Given the description of an element on the screen output the (x, y) to click on. 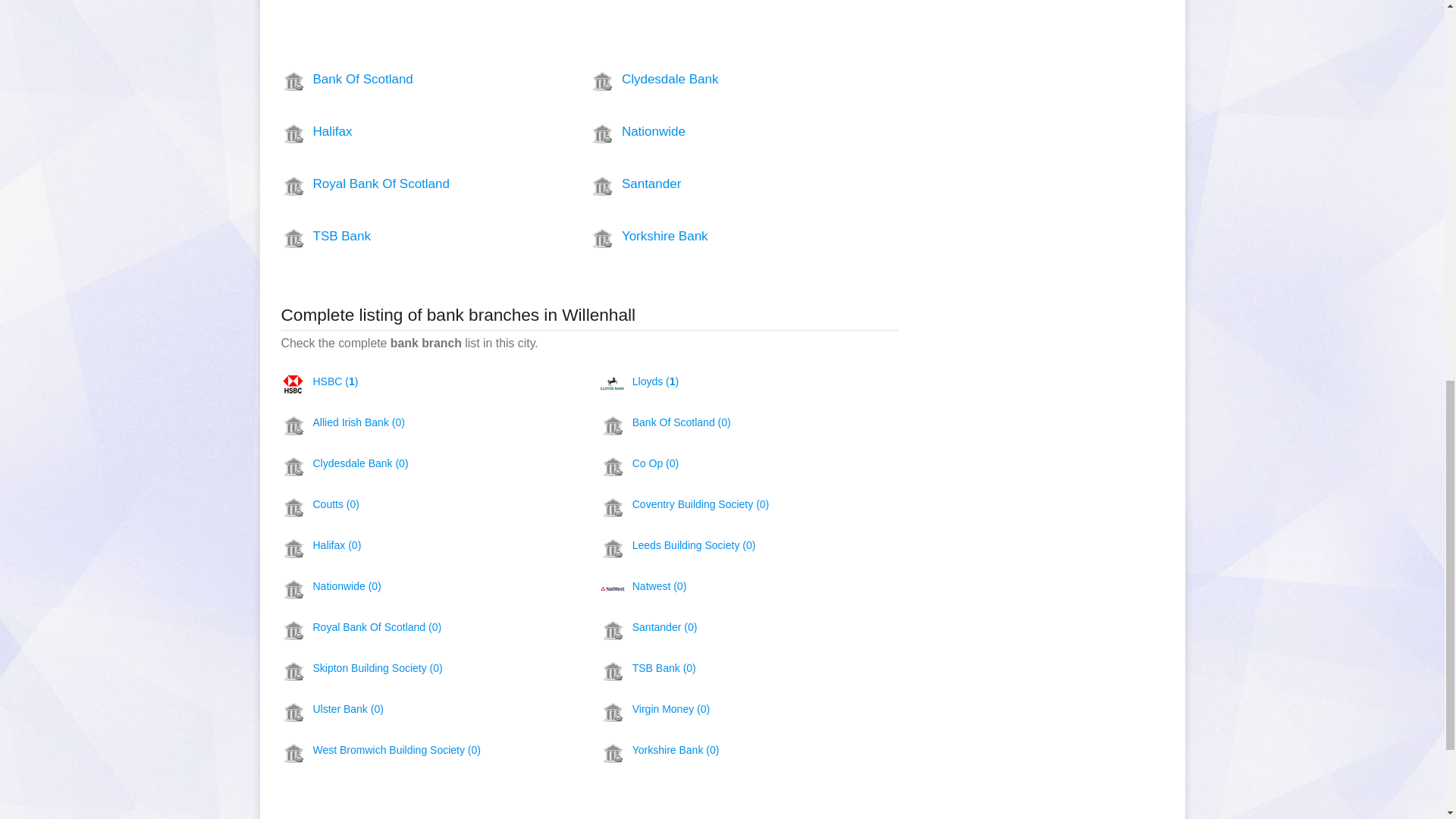
Nationwide (715, 131)
Clydesdale Bank (715, 79)
Santander (715, 183)
Bank Of Scotland (407, 79)
TSB Bank (407, 236)
Clydesdale Bank (715, 79)
Royal Bank Of Scotland (407, 183)
Bank Of Scotland (407, 79)
Halifax (407, 131)
Yorkshire Bank (715, 236)
